Given the description of an element on the screen output the (x, y) to click on. 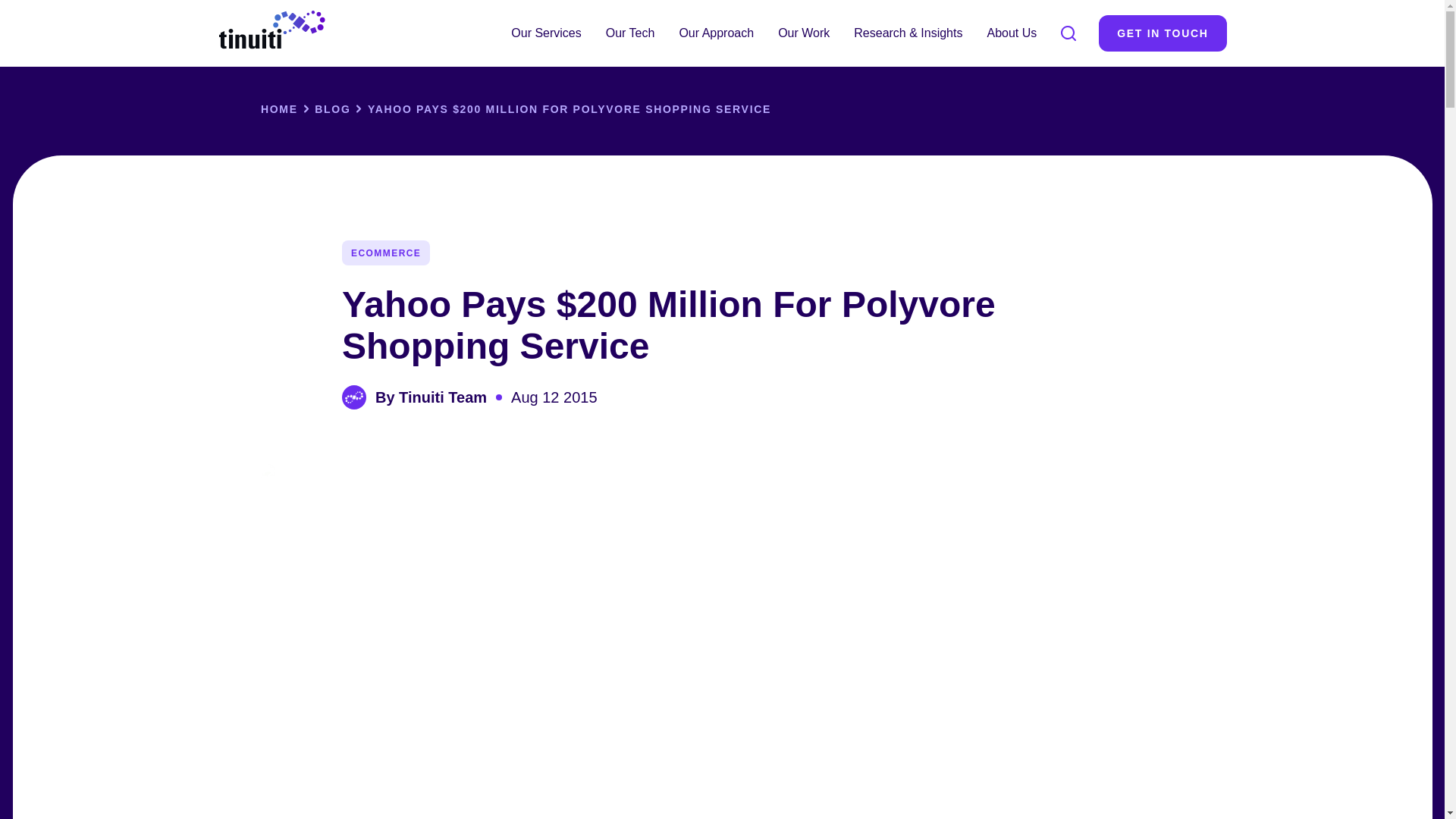
About Us (1011, 33)
Our Approach (715, 33)
Our Work (803, 33)
Our Tech (630, 33)
Our Services (545, 33)
